Given the description of an element on the screen output the (x, y) to click on. 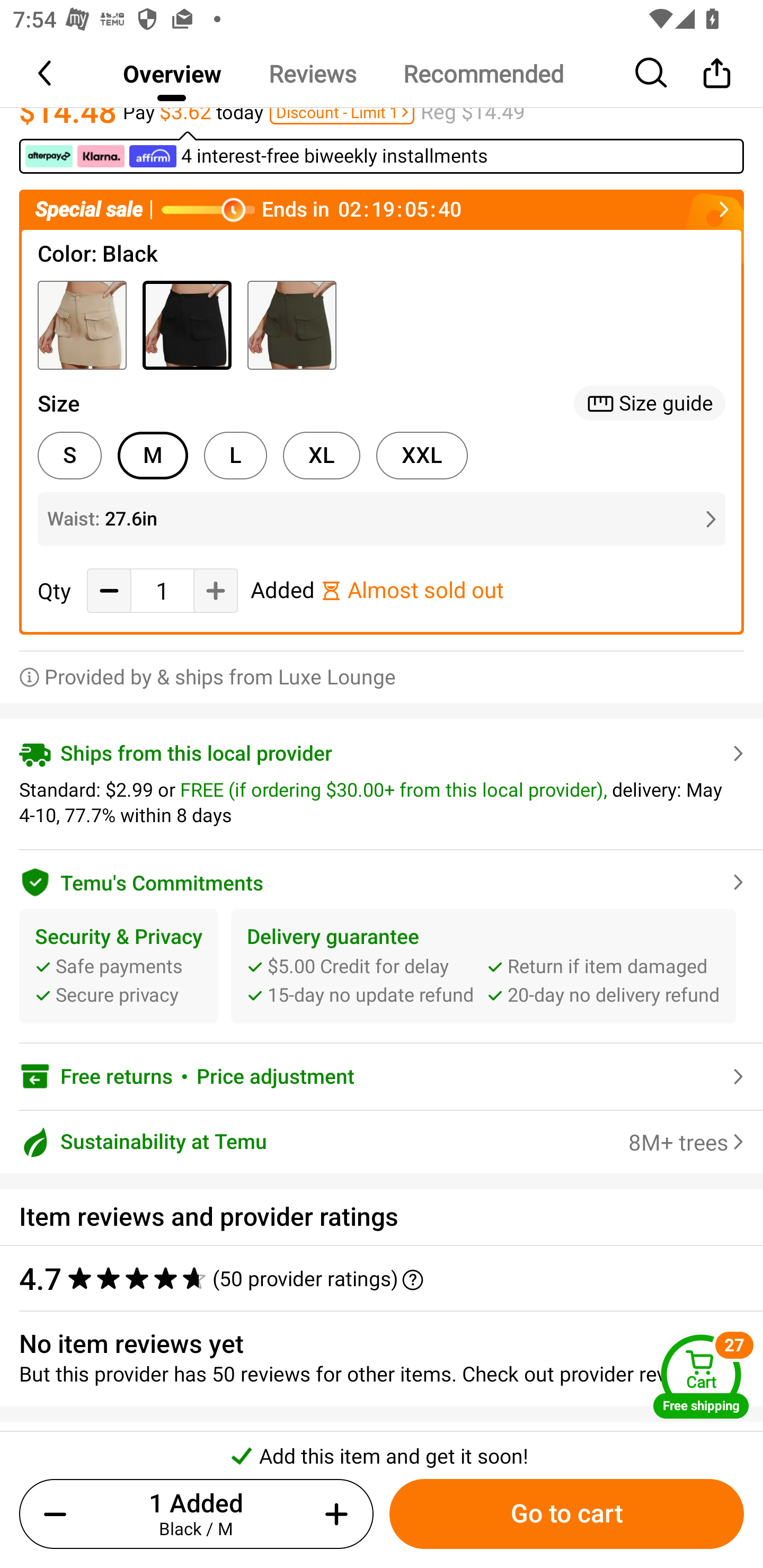
Overview (171, 72)
Reviews (311, 72)
Recommended (482, 72)
Back (46, 72)
Share (716, 72)
￼ ￼ ￼ 4 interest-free biweekly installments (381, 152)
Special sale Ends in￼￼ (381, 209)
Khaki (81, 325)
Black (186, 325)
Army Green (291, 325)
 Size guide (649, 402)
S (69, 455)
M (152, 455)
L (235, 455)
XL (321, 455)
XXL (421, 455)
Waist: 27.6in￼ (381, 518)
Decrease Quantity Button (108, 590)
Add Quantity button (215, 590)
1 (162, 591)
Temu's Commitments (381, 879)
Security & Privacy Safe payments Secure privacy (118, 966)
Free returns￼Price adjustment (381, 1077)
Sustainability at Temu 8M+ trees (381, 1141)
4.7 ‪(50 provider ratings) (371, 1278)
Cart Free shipping Cart (701, 1375)
￼￼Add this item and get it soon!  (381, 1450)
Decrease Quantity Button (59, 1513)
Add Quantity button (332, 1513)
Go to cart (566, 1513)
